Given the description of an element on the screen output the (x, y) to click on. 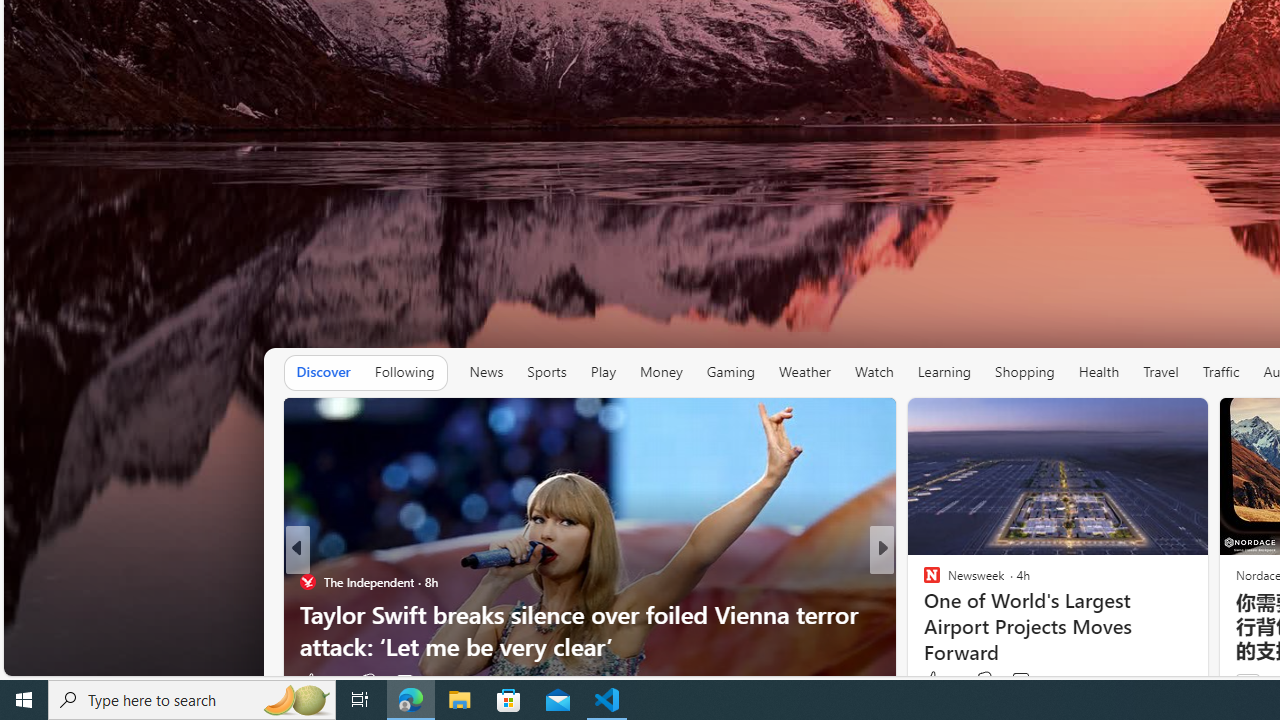
Fortune (923, 581)
View comments 5 Comment (1019, 681)
WhatToWatch (923, 581)
House Beautiful (923, 581)
View comments 104 Comment (1032, 681)
View comments 104 Comment (1019, 681)
793 Like (936, 681)
The Independent (307, 581)
